Given the description of an element on the screen output the (x, y) to click on. 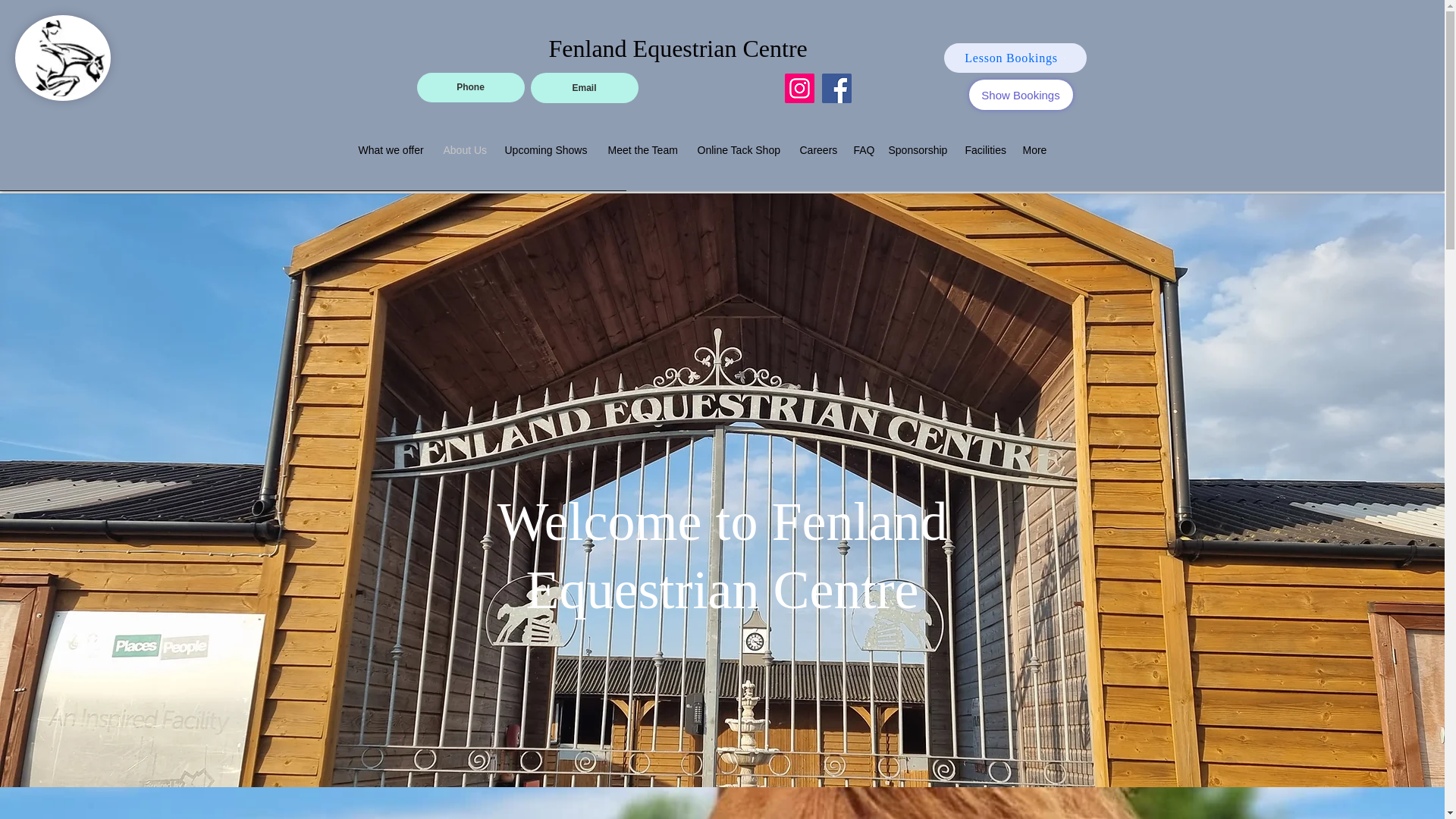
Careers (818, 149)
Sponsorship (919, 149)
Fenland Equestrian Centre (678, 48)
About Us (465, 149)
Email (585, 87)
Meet the Team (644, 149)
Facilities (985, 149)
Show Bookings (1021, 94)
Phone (470, 87)
Lesson Bookings (1014, 57)
